Given the description of an element on the screen output the (x, y) to click on. 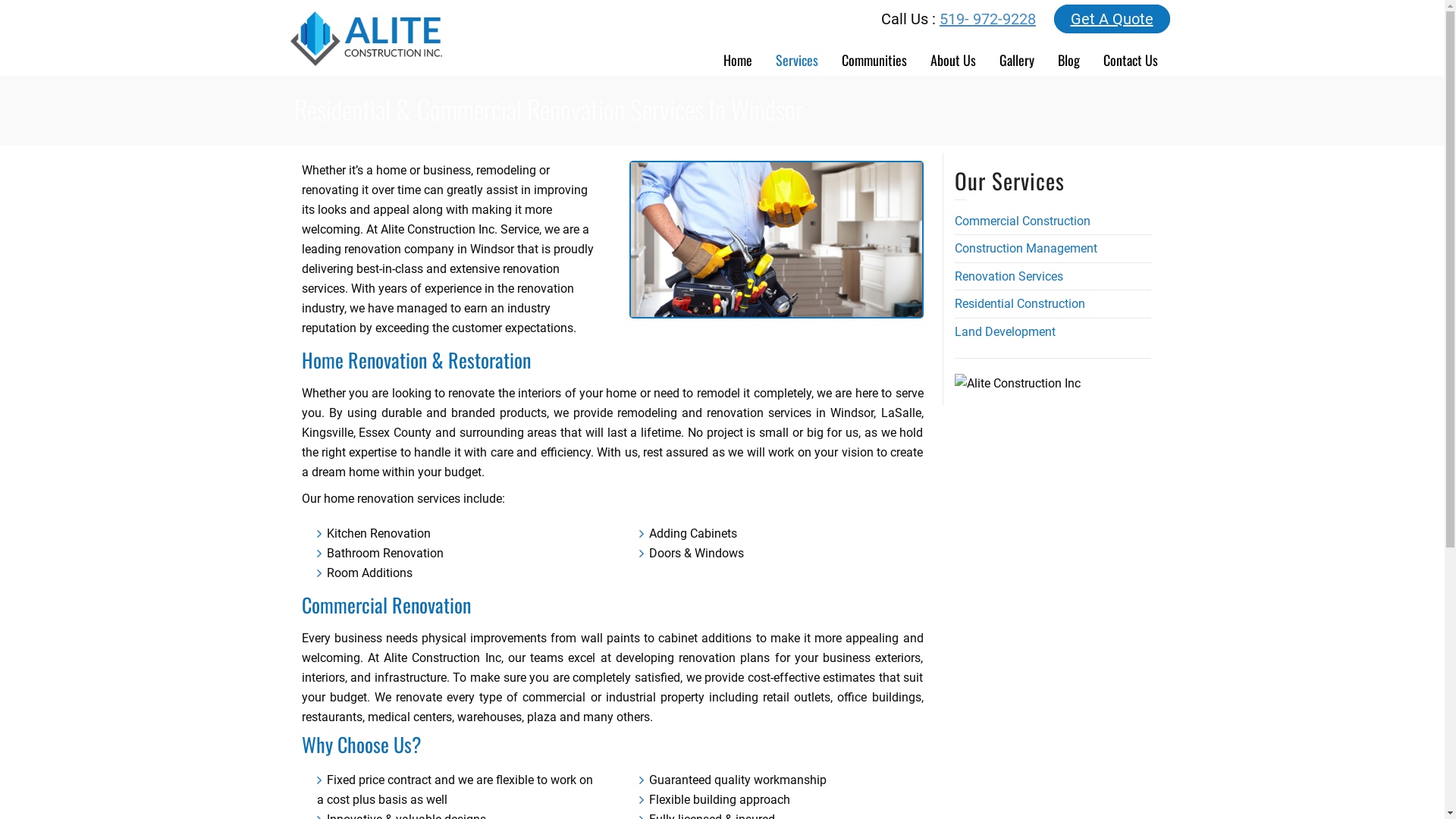
Commercial Construction Element type: text (1021, 220)
Renovation Services Element type: text (1007, 276)
Land Development Element type: text (1003, 331)
Get A Quote Element type: text (1112, 18)
519- 972-9228 Element type: text (987, 18)
Home Element type: text (737, 54)
Communities Element type: text (873, 54)
Contact Us Element type: text (1131, 54)
Residential Construction Element type: text (1018, 303)
Blog Element type: text (1069, 54)
Gallery Element type: text (1016, 54)
Alite Construction Inc Element type: hover (1016, 383)
About Us Element type: text (953, 54)
Alite Construction Inc. Element type: hover (365, 37)
Services Element type: text (797, 54)
Construction Management Element type: text (1024, 248)
